Given the description of an element on the screen output the (x, y) to click on. 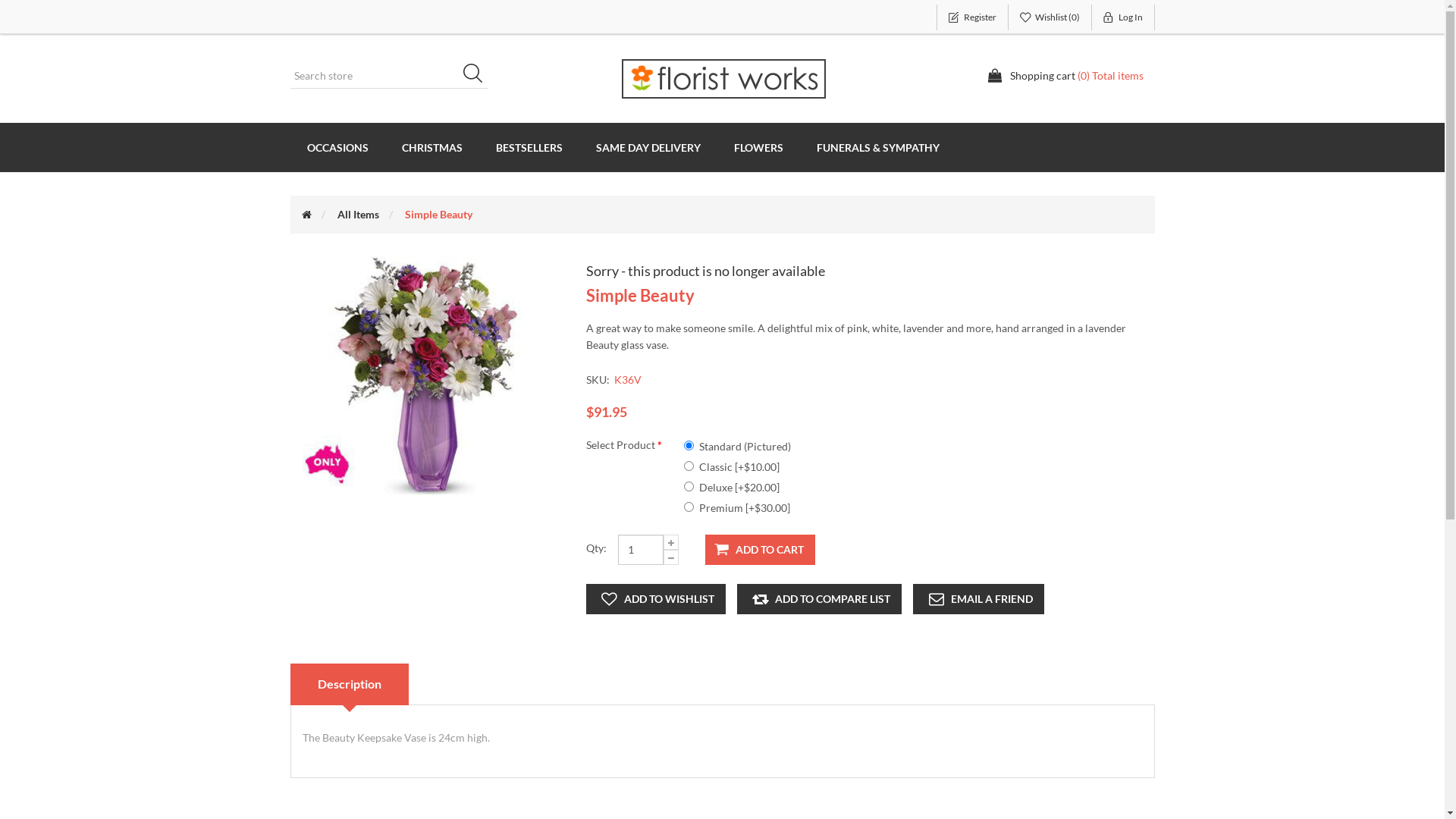
Log In Element type: text (1123, 17)
Add to cart Element type: text (760, 549)
All Items Element type: text (357, 213)
Add to wishlist Element type: text (654, 598)
FLOWERS Element type: text (758, 147)
Shopping cart (0) Total items Element type: text (1065, 75)
Register Element type: text (971, 17)
FUNERALS & SYMPATHY Element type: text (877, 147)
CHRISTMAS Element type: text (432, 147)
SAME DAY DELIVERY Element type: text (648, 147)
Description Element type: text (348, 684)
OCCASIONS Element type: text (336, 147)
BESTSELLERS Element type: text (529, 147)
Picture of Simple Beauty Element type: hover (425, 375)
Wishlist (0) Element type: text (1050, 17)
Add to compare list Element type: text (819, 598)
Email a friend Element type: text (978, 598)
